Given the description of an element on the screen output the (x, y) to click on. 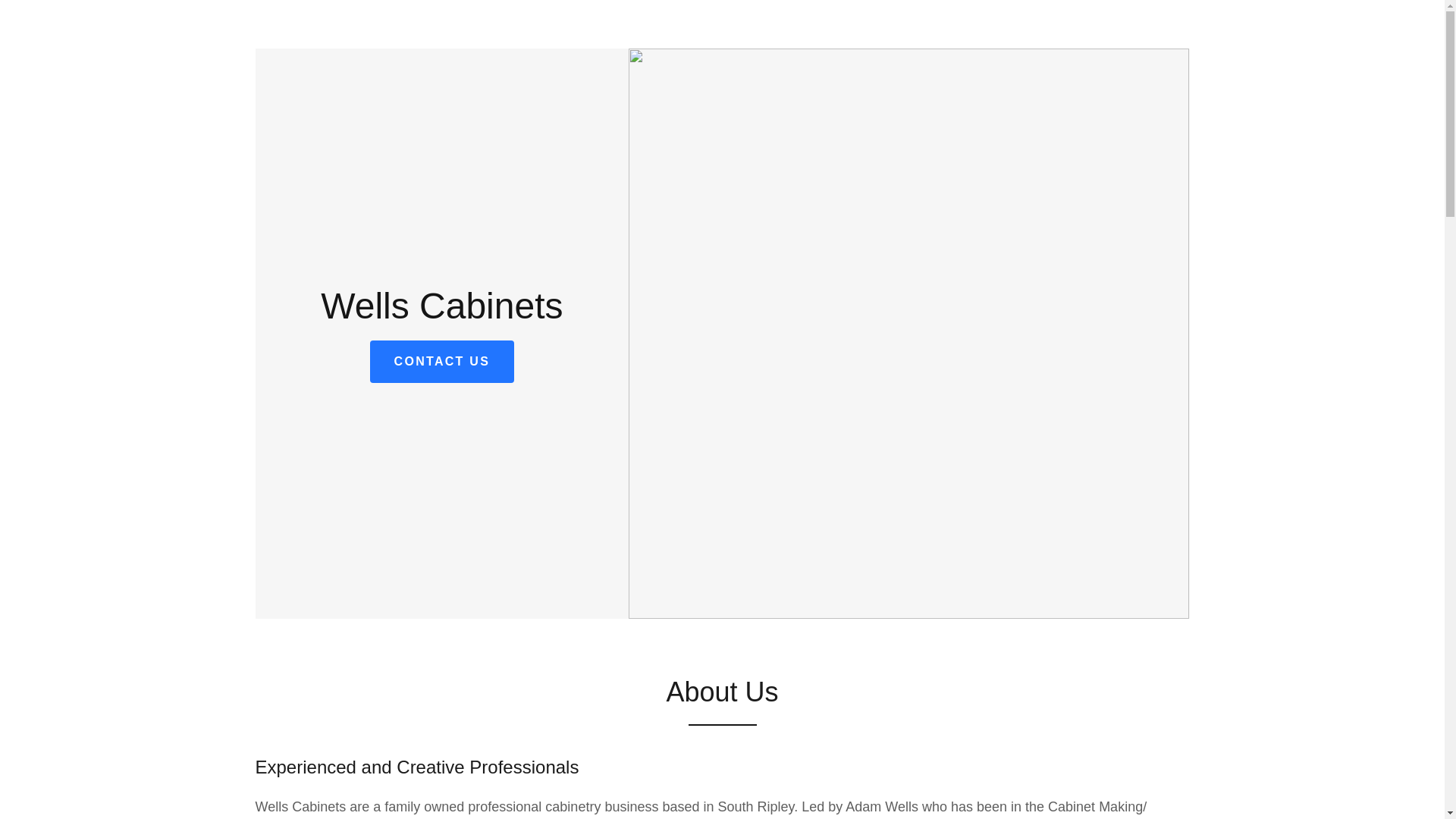
Wells Cabinets (441, 313)
Wells Cabinets (441, 313)
CONTACT US (442, 361)
